Given the description of an element on the screen output the (x, y) to click on. 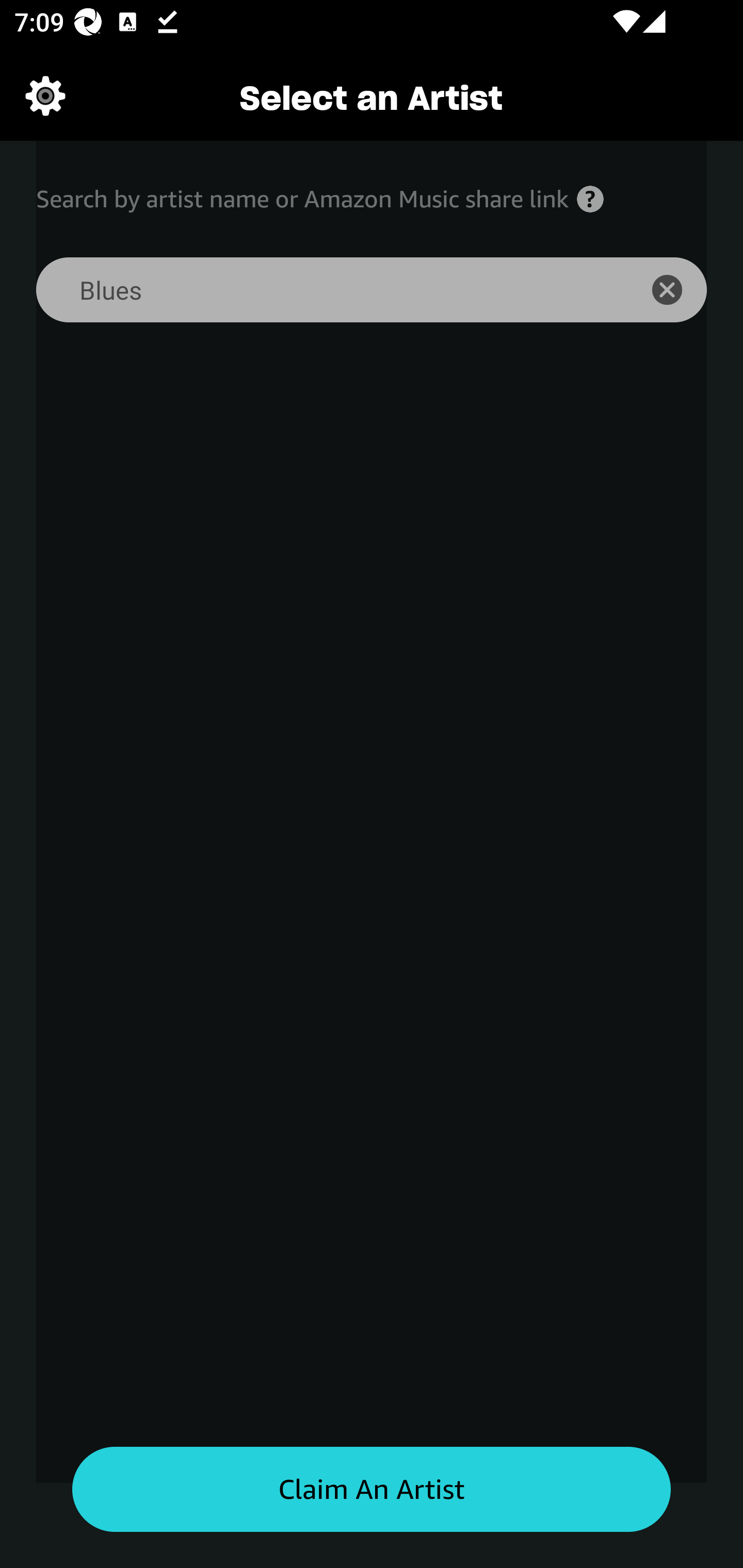
Help  icon (589, 199)
Blues Search for an artist search bar (324, 290)
 icon (677, 290)
Claim an artist button Claim An Artist (371, 1489)
